Given the description of an element on the screen output the (x, y) to click on. 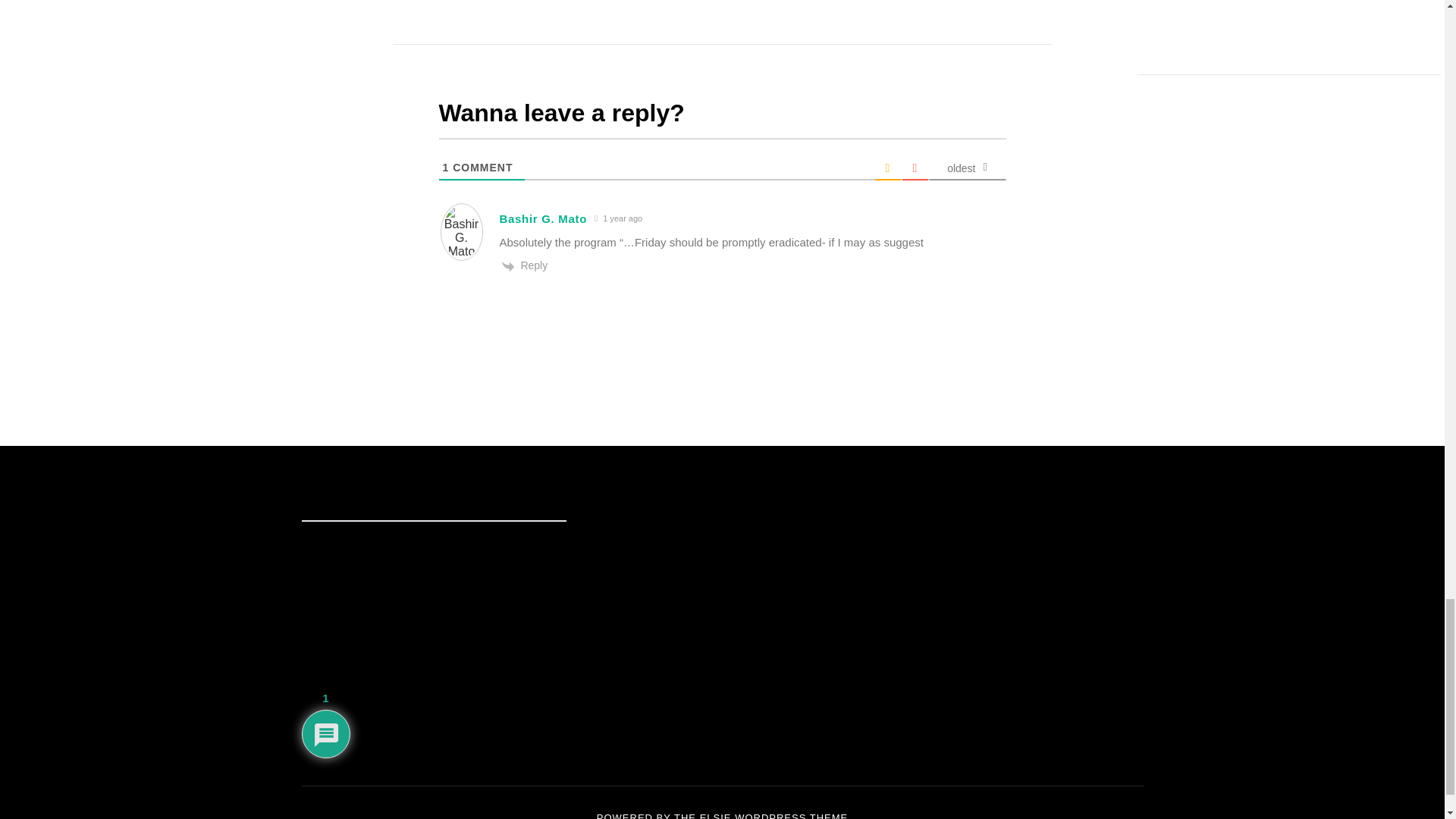
ELSIE (716, 815)
April 24, 2023 1:00 am (618, 218)
